Given the description of an element on the screen output the (x, y) to click on. 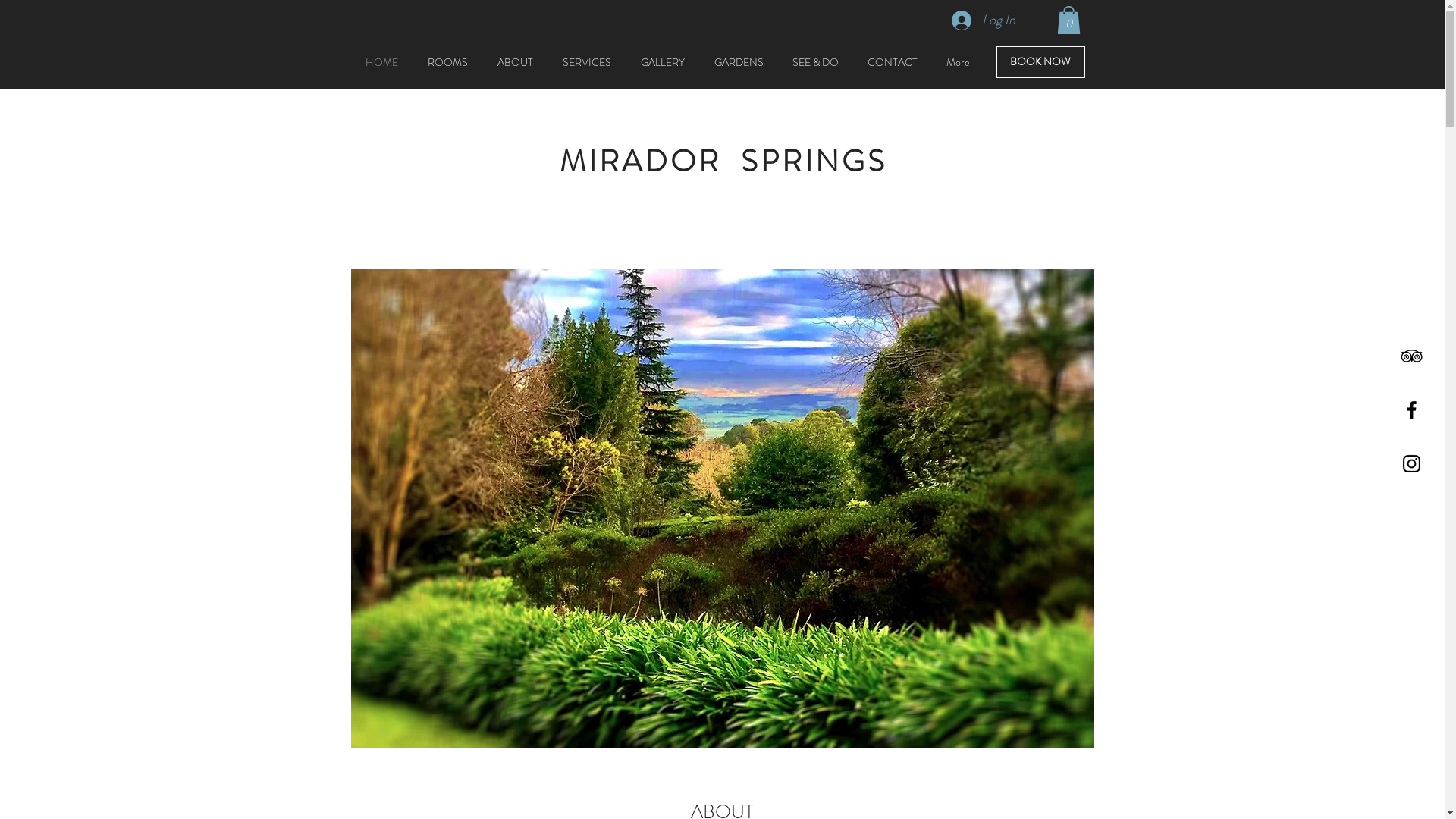
Log In Element type: text (982, 20)
BOOK NOW Element type: text (1040, 62)
HOME Element type: text (381, 62)
GALLERY Element type: text (662, 62)
CONTACT Element type: text (891, 62)
0 Element type: text (1068, 20)
SERVICES Element type: text (586, 62)
ABOUT Element type: text (514, 62)
GARDENS Element type: text (738, 62)
SEE & DO Element type: text (815, 62)
